Given the description of an element on the screen output the (x, y) to click on. 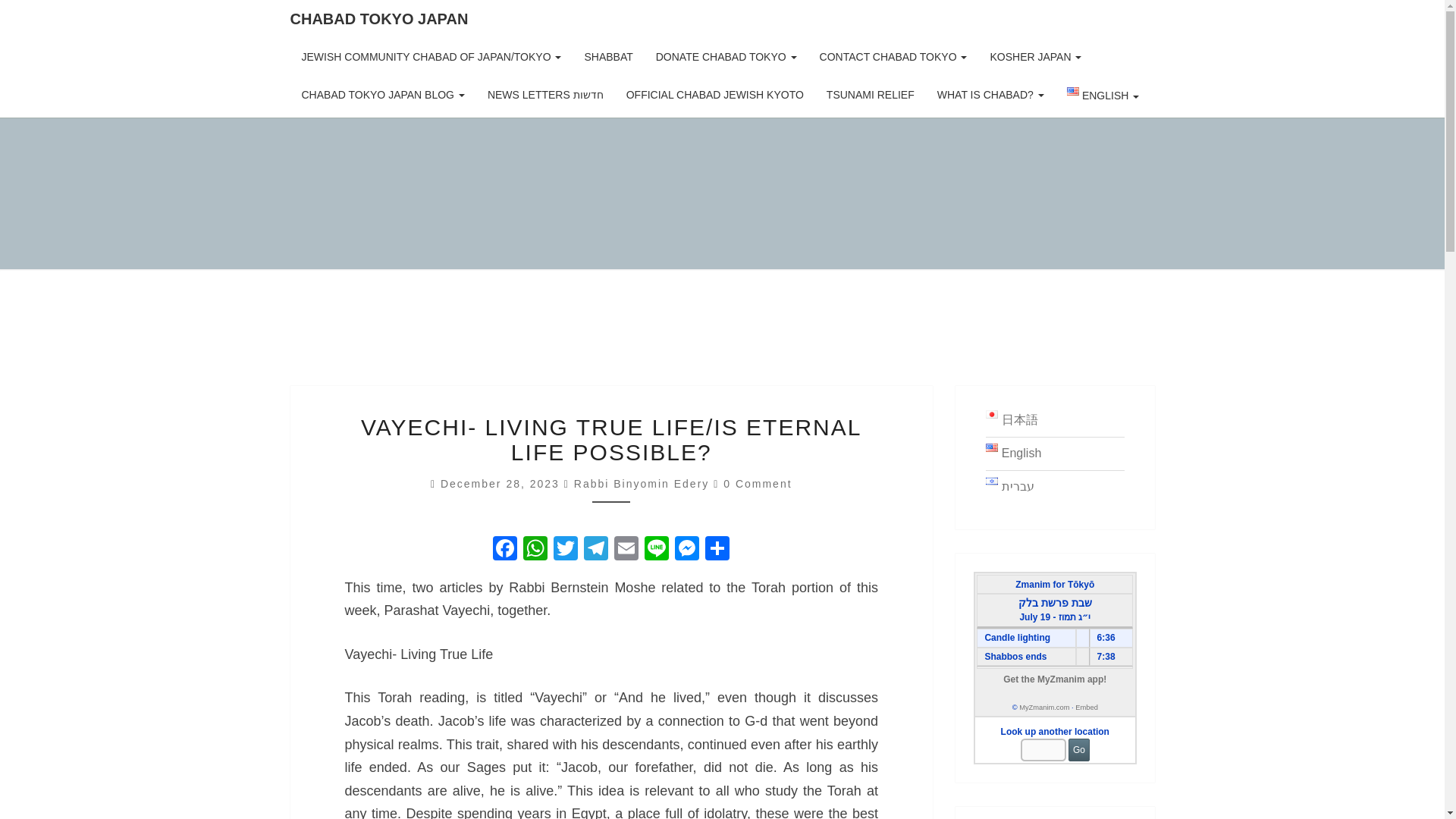
TSUNAMI RELIEF (870, 94)
Contact Chabad Tokyo (893, 56)
Go (1078, 749)
KOSHER JAPAN (1035, 56)
Donate Chabad Tokyo (726, 56)
CHABAD TOKYO JAPAN BLOG (382, 94)
SHABBAT (607, 56)
CONTACT CHABAD TOKYO (893, 56)
Shabbat (607, 56)
OFFICIAL CHABAD JEWISH KYOTO (714, 94)
WHAT IS CHABAD? (990, 94)
DONATE CHABAD TOKYO (726, 56)
CHABAD TOKYO JAPAN (379, 18)
ENGLISH (1103, 96)
